Given the description of an element on the screen output the (x, y) to click on. 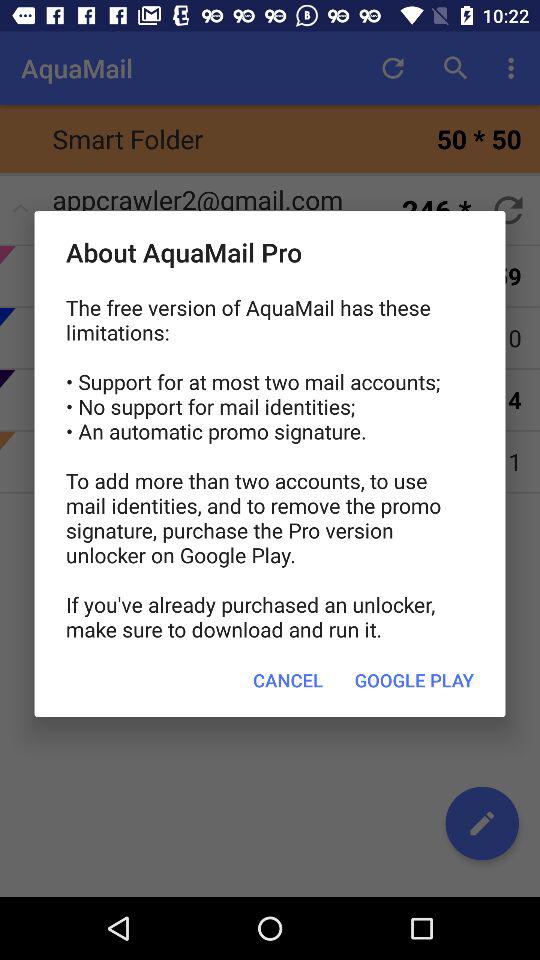
turn on cancel icon (287, 679)
